Given the description of an element on the screen output the (x, y) to click on. 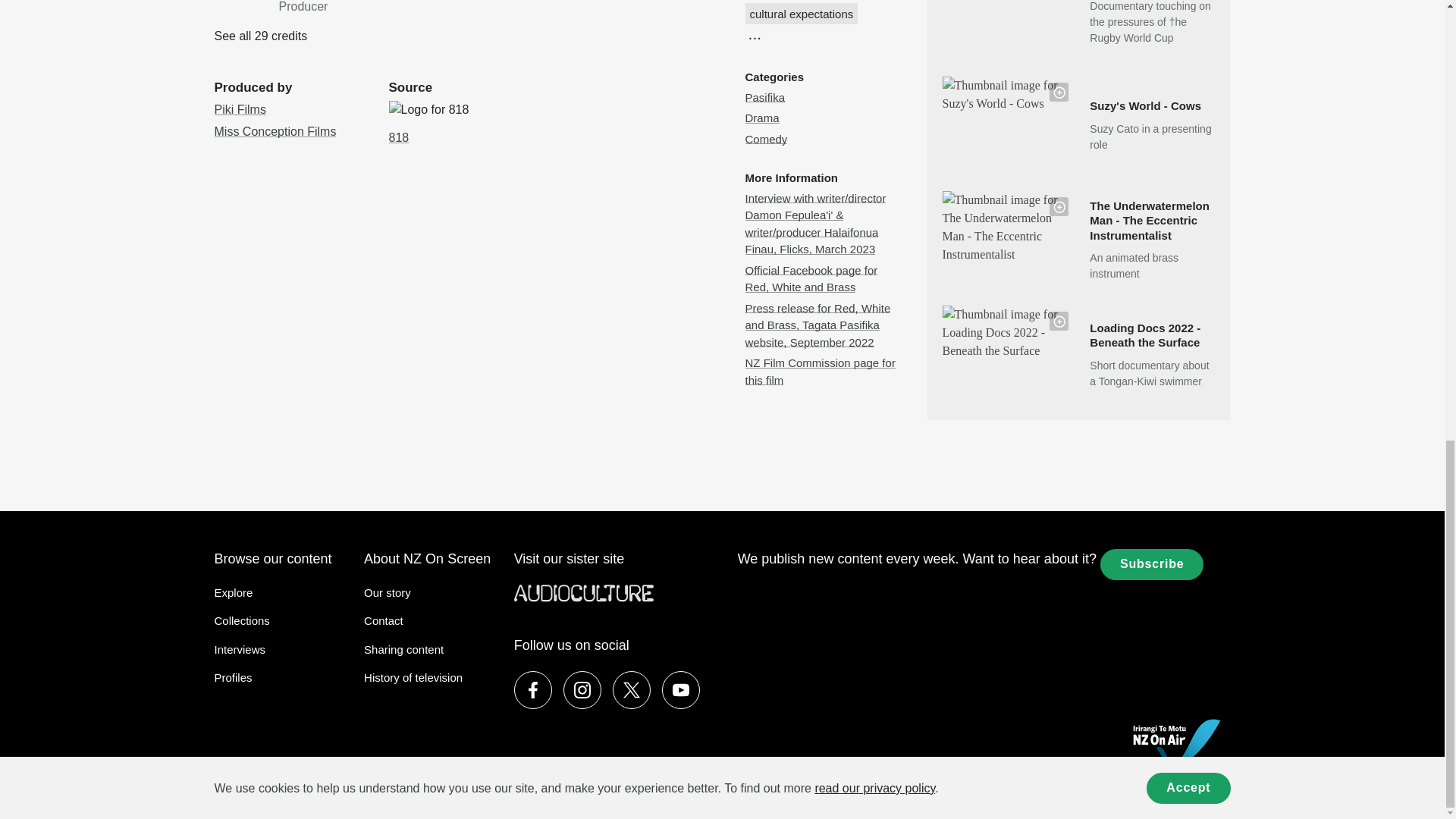
818 (428, 109)
Piki Films (239, 109)
Check out Instagram (582, 689)
Miss Conception Films (275, 131)
See all 29 credits (260, 35)
Connect with us on Facebook (532, 689)
Piki Films (239, 109)
Miss Conception Films (289, 7)
818 (275, 131)
818 (398, 137)
